Given the description of an element on the screen output the (x, y) to click on. 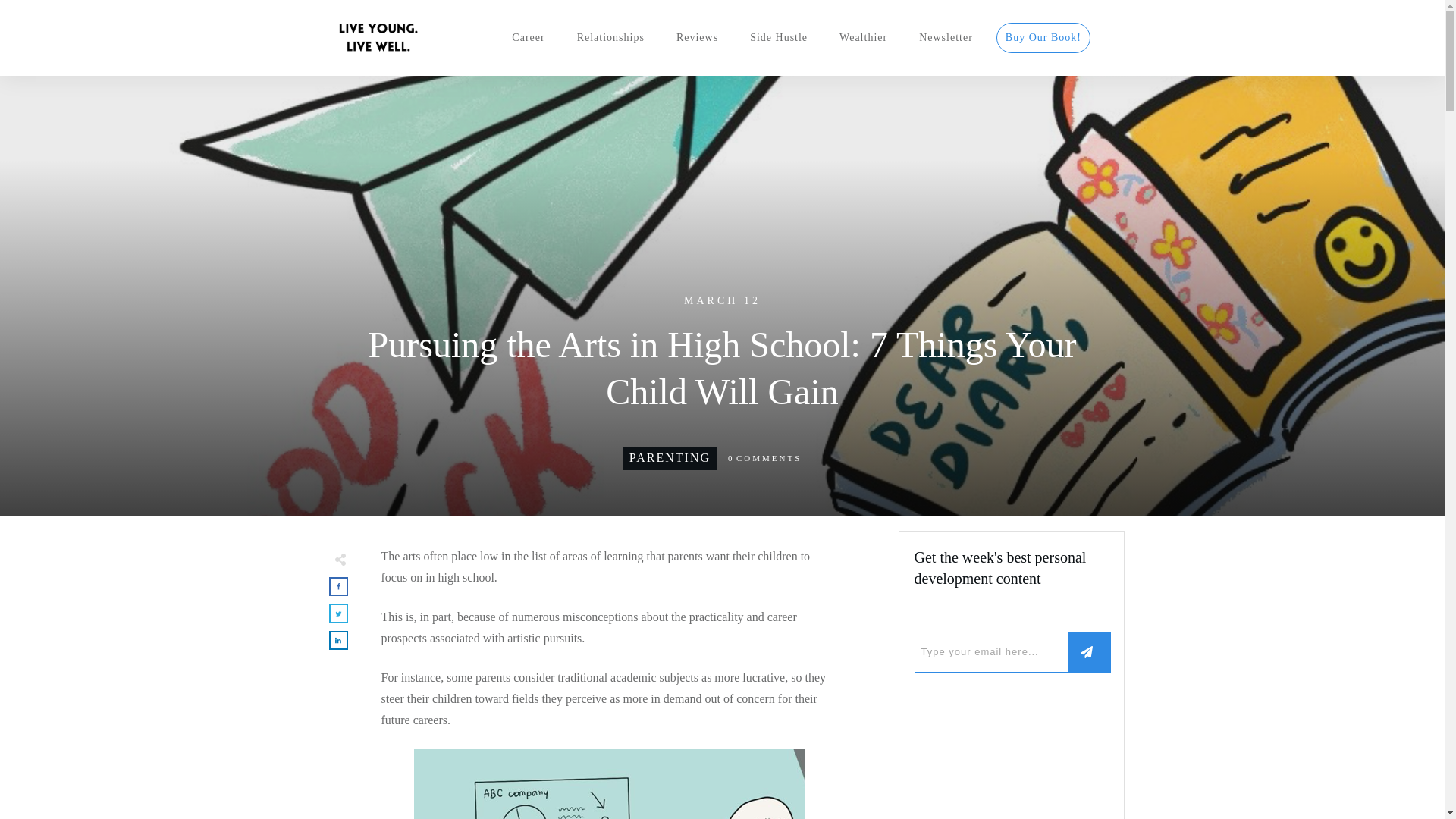
Career (528, 37)
Newsletter (945, 37)
Buy Our Book! (1043, 37)
Relationships (610, 37)
Wealthier (863, 37)
PARENTING (669, 457)
Side Hustle (778, 37)
Parenting (669, 457)
Reviews (697, 37)
